Given the description of an element on the screen output the (x, y) to click on. 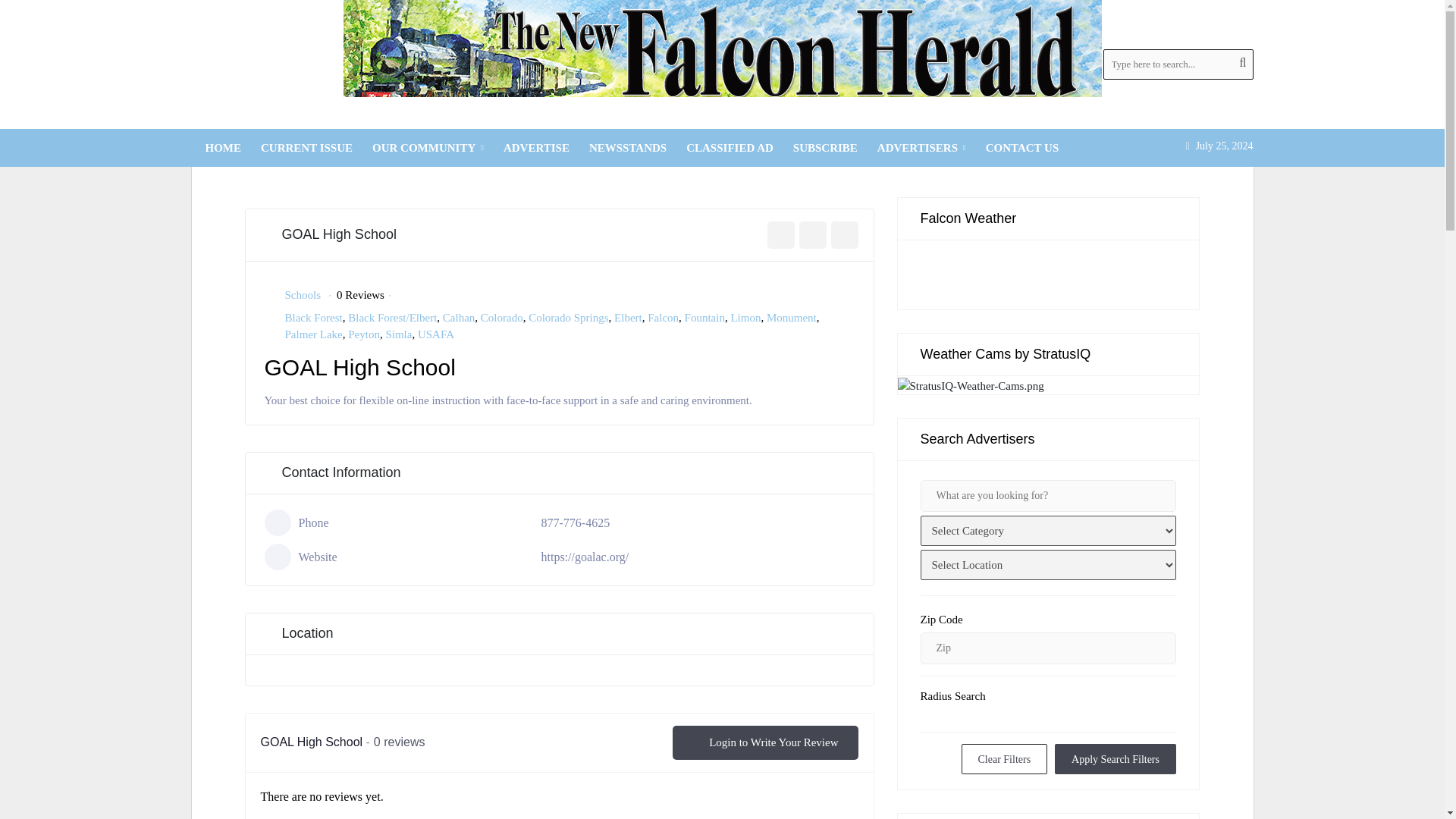
ADVERTISERS (921, 147)
CLASSIFIED AD (730, 147)
CURRENT ISSUE (306, 147)
OUR COMMUNITY (427, 147)
ADVERTISE (536, 147)
HOME (223, 147)
CONTACT US (1021, 147)
SUBSCRIBE (825, 147)
NEWSSTANDS (628, 147)
